Given the description of an element on the screen output the (x, y) to click on. 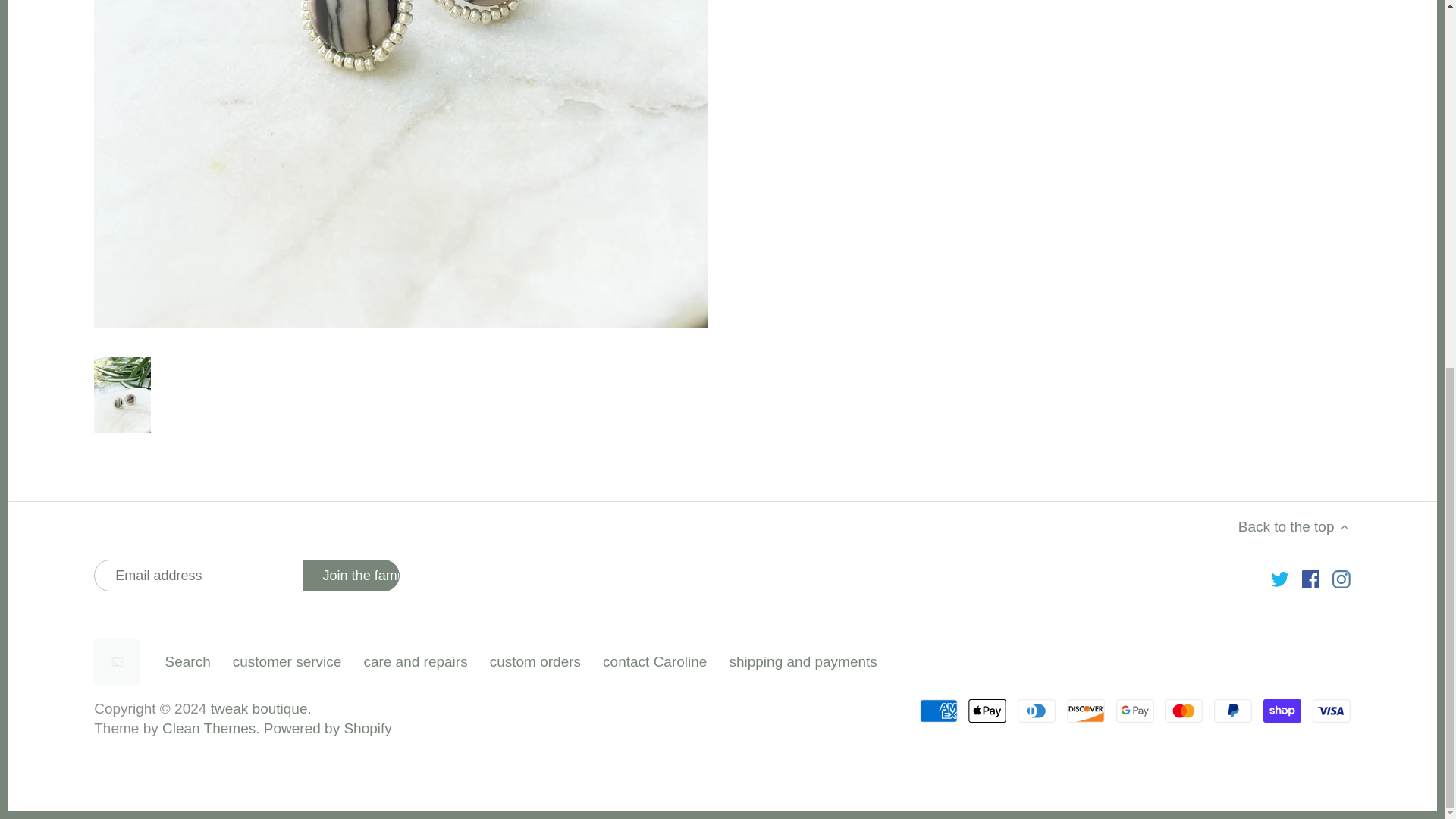
Facebook (1310, 579)
Twitter (1279, 579)
Join the family! (350, 575)
Instagram (1340, 579)
